Given the description of an element on the screen output the (x, y) to click on. 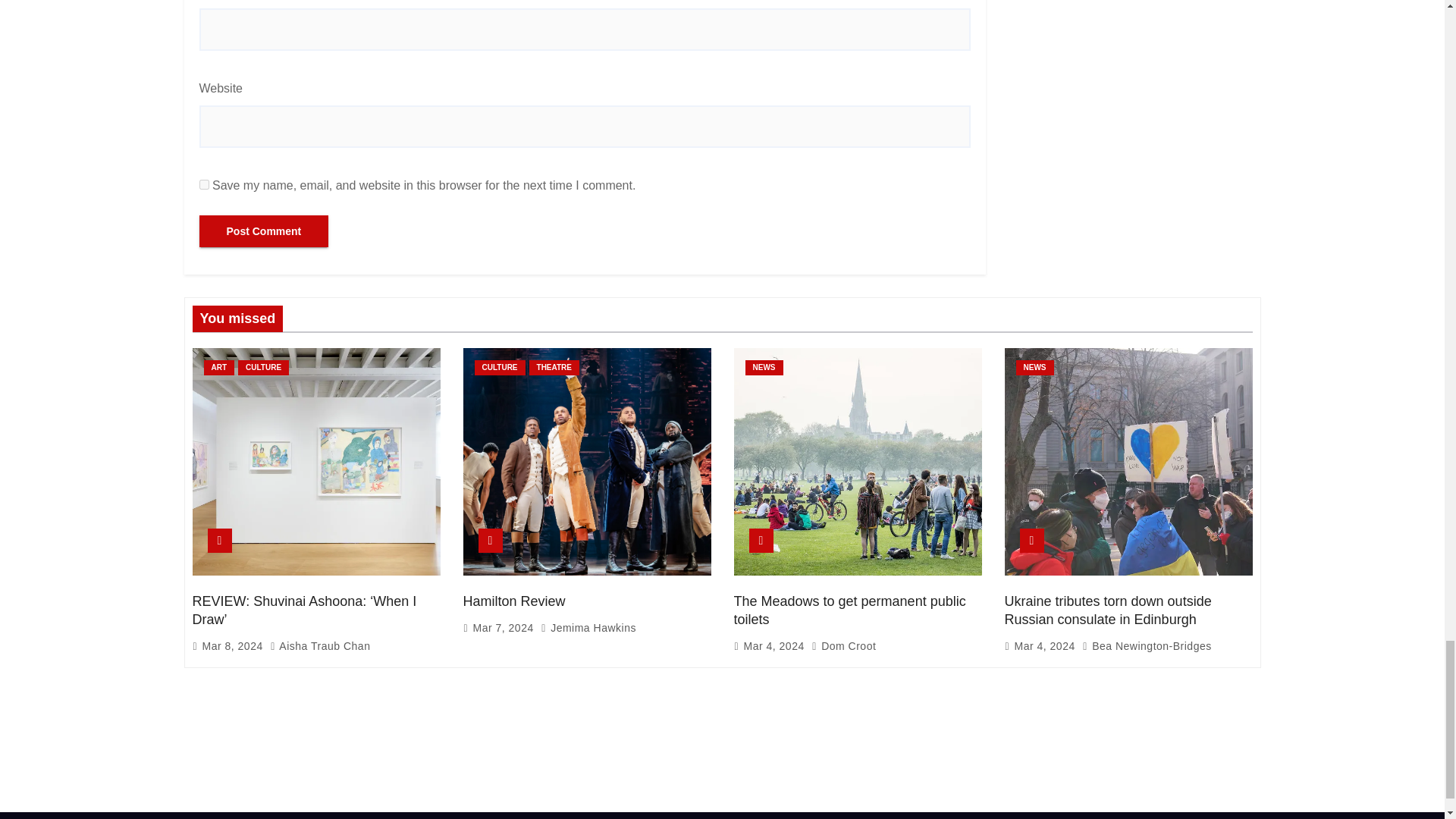
yes (203, 184)
Post Comment (263, 231)
